Given the description of an element on the screen output the (x, y) to click on. 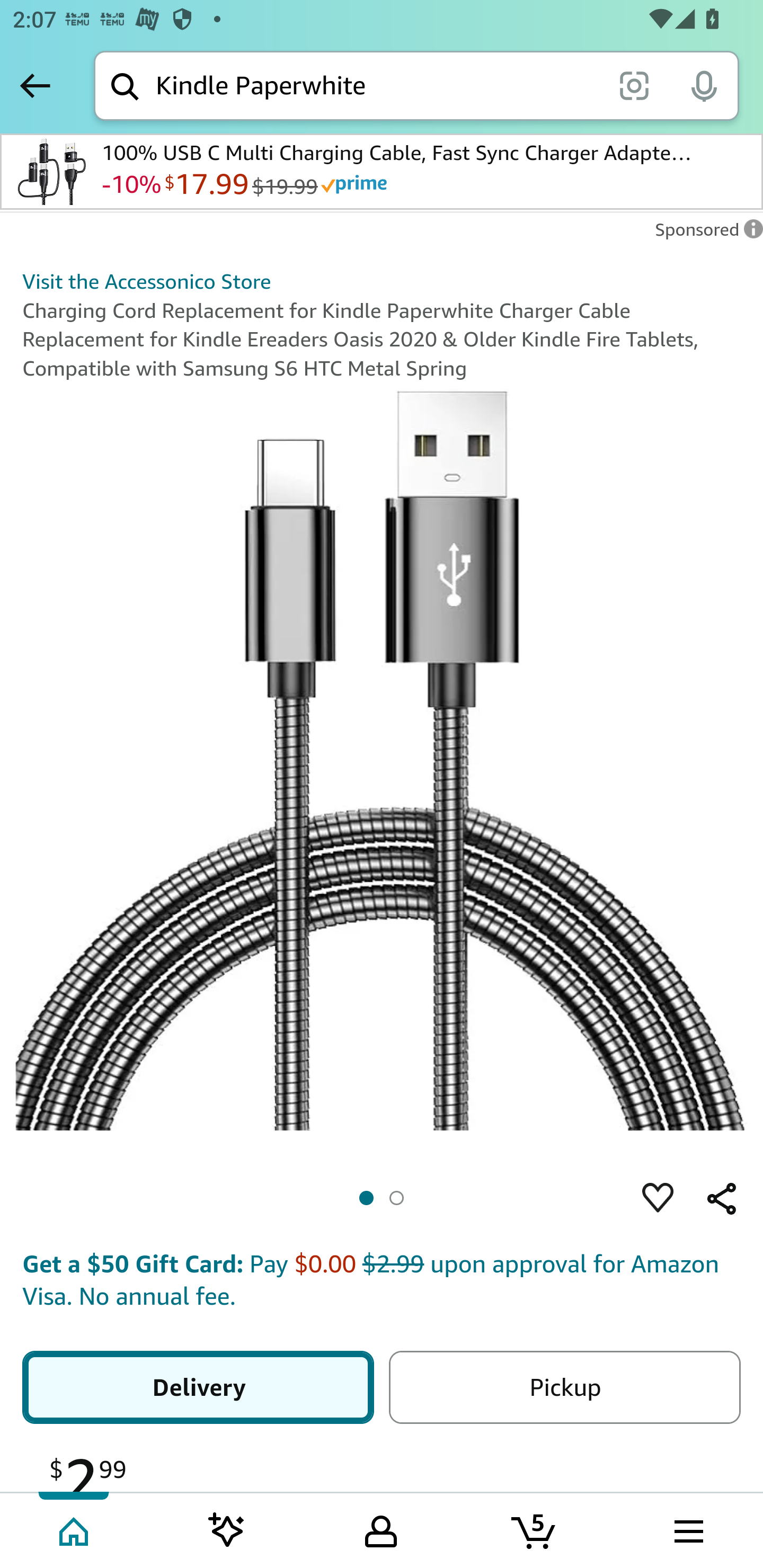
Back (35, 85)
scan it (633, 85)
Leave feedback on Sponsored ad Sponsored  (703, 234)
Visit the Accessonico Store (146, 281)
Heart to save an item to your default list (657, 1198)
Delivery (198, 1386)
Pickup (564, 1386)
Home Tab 1 of 5 (75, 1529)
Inspire feed Tab 2 of 5 (227, 1529)
Your Amazon.com Tab 3 of 5 (380, 1529)
Cart 5 items Tab 4 of 5 5 (534, 1529)
Browse menu Tab 5 of 5 (687, 1529)
